Given the description of an element on the screen output the (x, y) to click on. 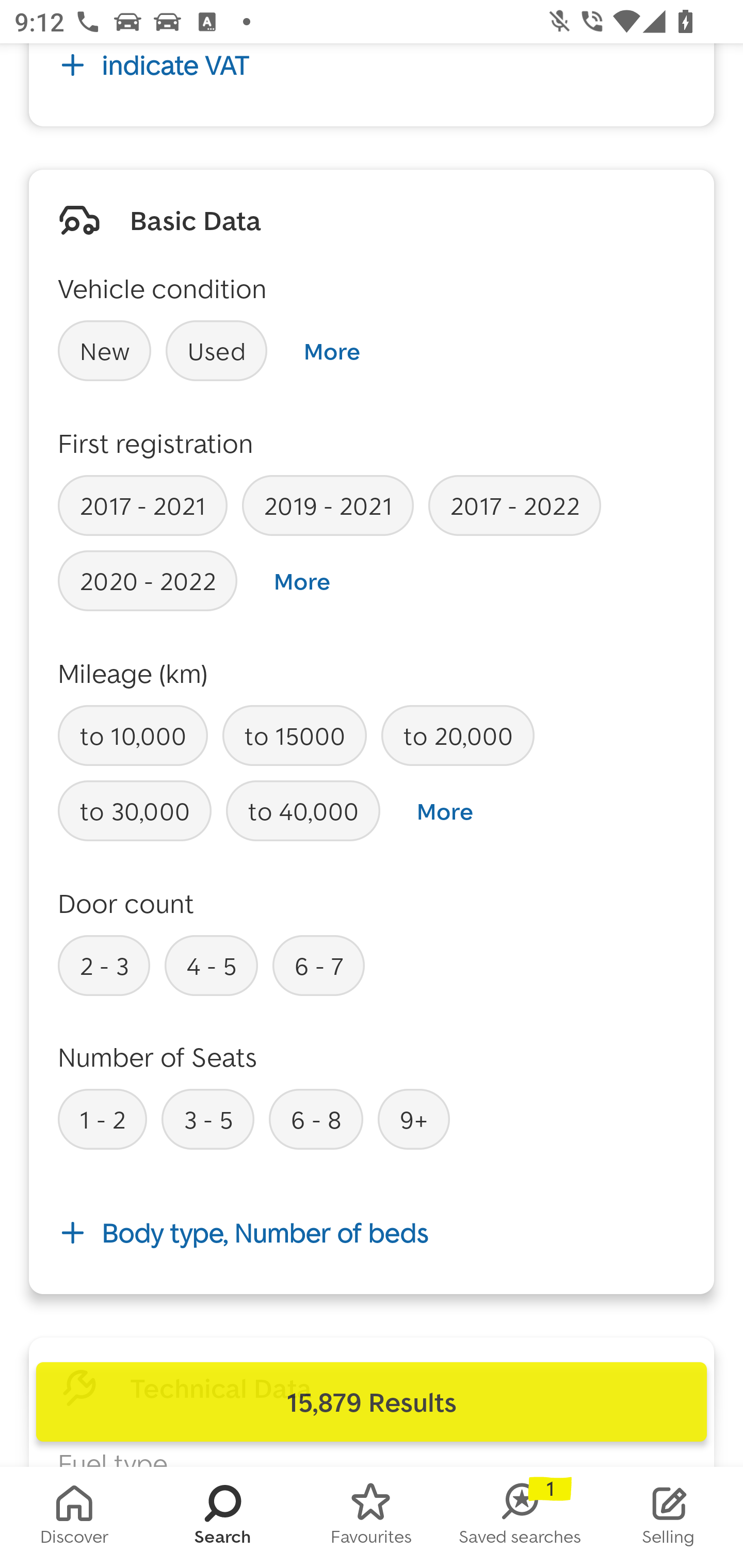
indicate VAT (371, 74)
Basic Data (195, 220)
Vehicle condition (161, 288)
New (103, 350)
Used (216, 350)
More (331, 350)
First registration (155, 442)
2017 - 2021 (142, 505)
2019 - 2021 (327, 505)
2017 - 2022 (514, 505)
2020 - 2022 (147, 580)
More (301, 580)
Mileage (km) (132, 672)
to 10,000 (132, 735)
to 15000 (294, 735)
to 20,000 (457, 735)
to 30,000 (134, 811)
to 40,000 (302, 811)
More (444, 811)
Door count (125, 902)
2 - 3 (103, 964)
4 - 5 (210, 964)
6 - 7 (318, 964)
Number of Seats (157, 1056)
1 - 2 (102, 1118)
3 - 5 (207, 1118)
6 - 8 (315, 1118)
9+ (413, 1118)
Body type, Number of beds (371, 1233)
15,879 Results (371, 1401)
HOMESCREEN Discover (74, 1517)
SEARCH Search (222, 1517)
FAVORITES Favourites (371, 1517)
SAVED_SEARCHES Saved searches 1 (519, 1517)
STOCK_LIST Selling (668, 1517)
